Given the description of an element on the screen output the (x, y) to click on. 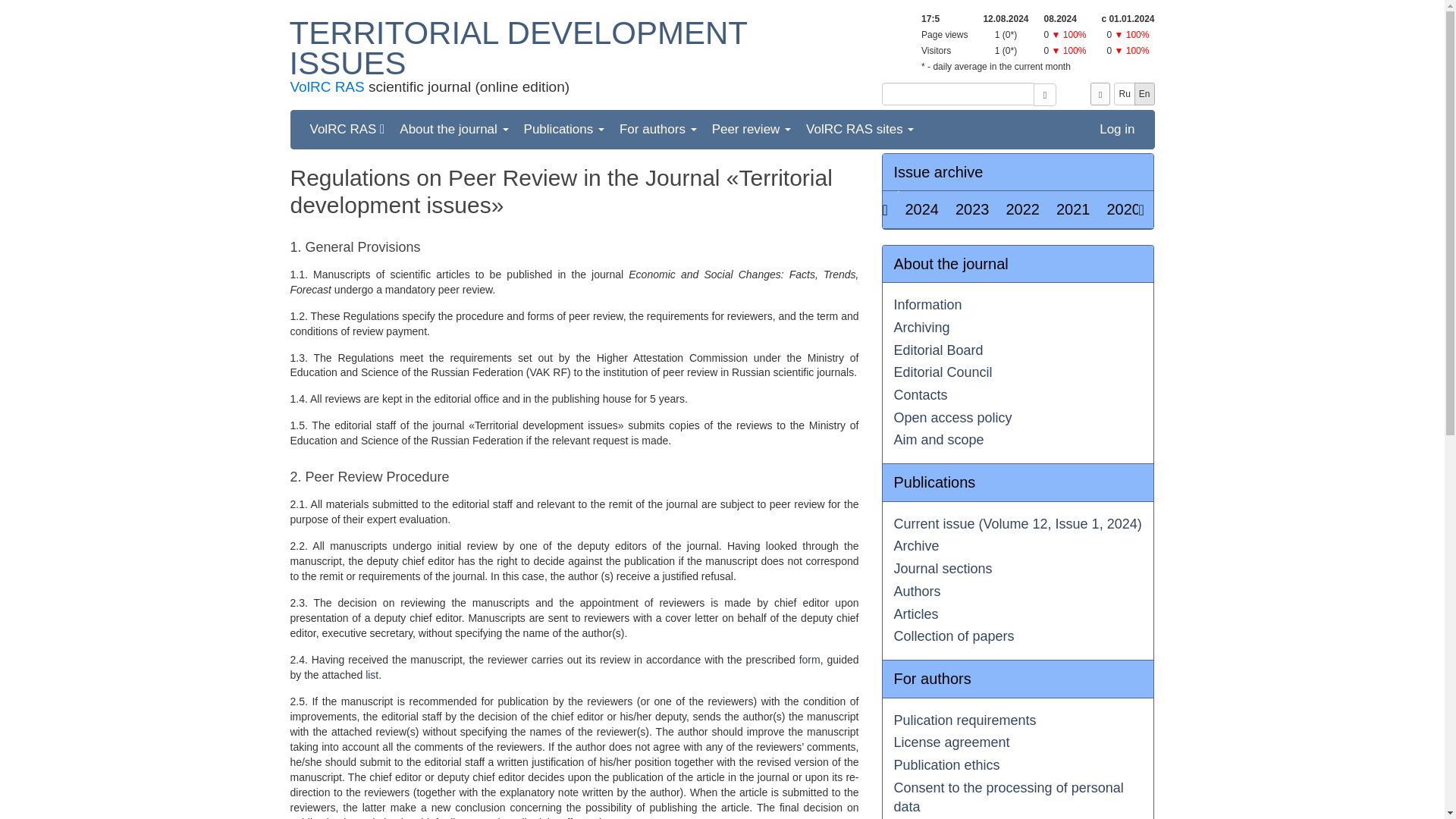
Ru (1123, 93)
TERRITORIAL DEVELOPMENT ISSUES (518, 48)
VolRC RAS (346, 129)
About the journal (453, 129)
Peer review (750, 129)
For authors (657, 129)
VolRC RAS sites (859, 129)
VolRC RAS (326, 86)
Publications (563, 129)
